Given the description of an element on the screen output the (x, y) to click on. 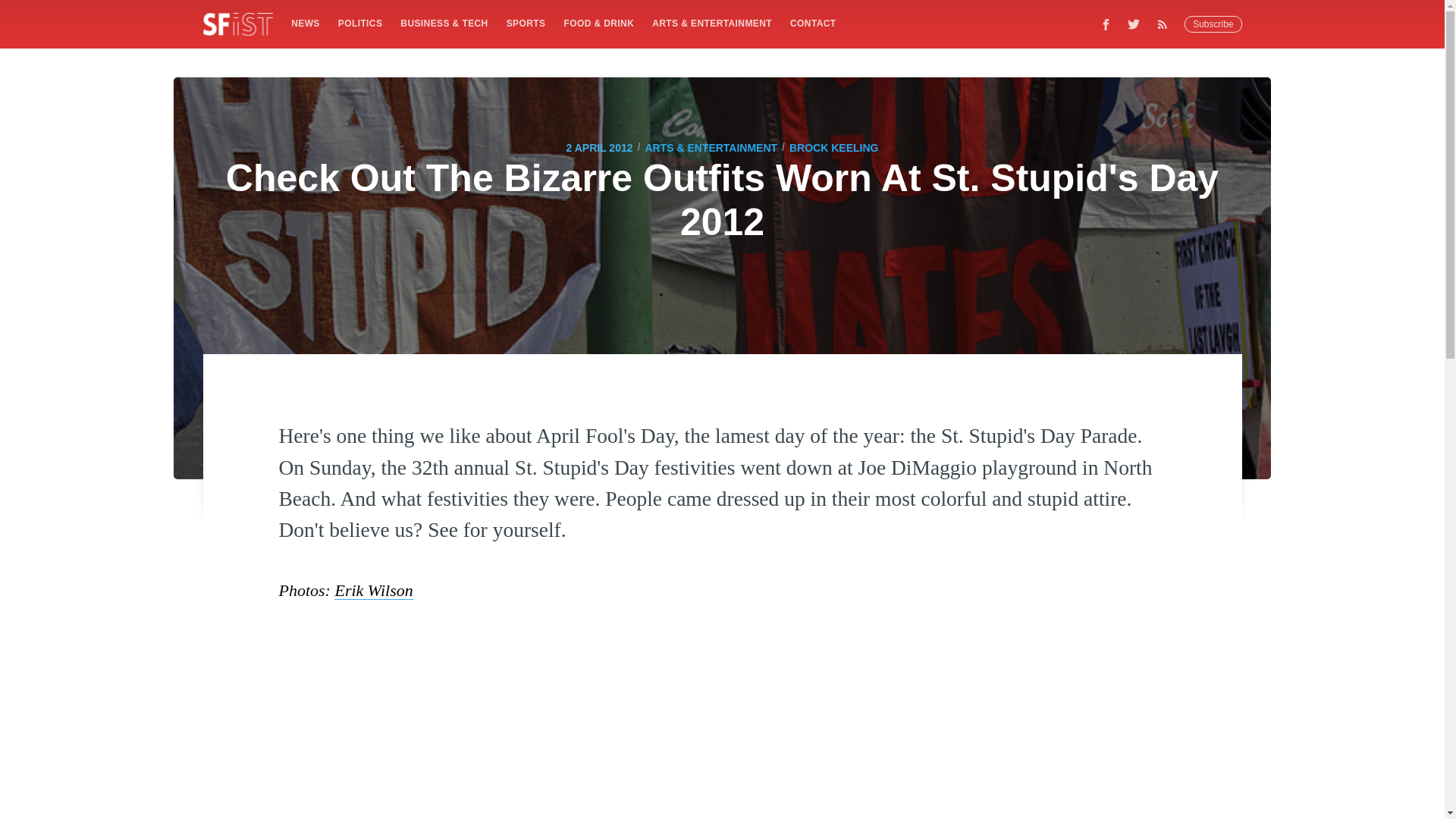
BROCK KEELING (833, 147)
RSS (1166, 23)
SPORTS (525, 23)
POLITICS (360, 23)
CONTACT (812, 23)
Subscribe (1213, 23)
Facebook (1106, 23)
Erik Wilson (373, 589)
Twitter (1133, 23)
NEWS (305, 23)
